Given the description of an element on the screen output the (x, y) to click on. 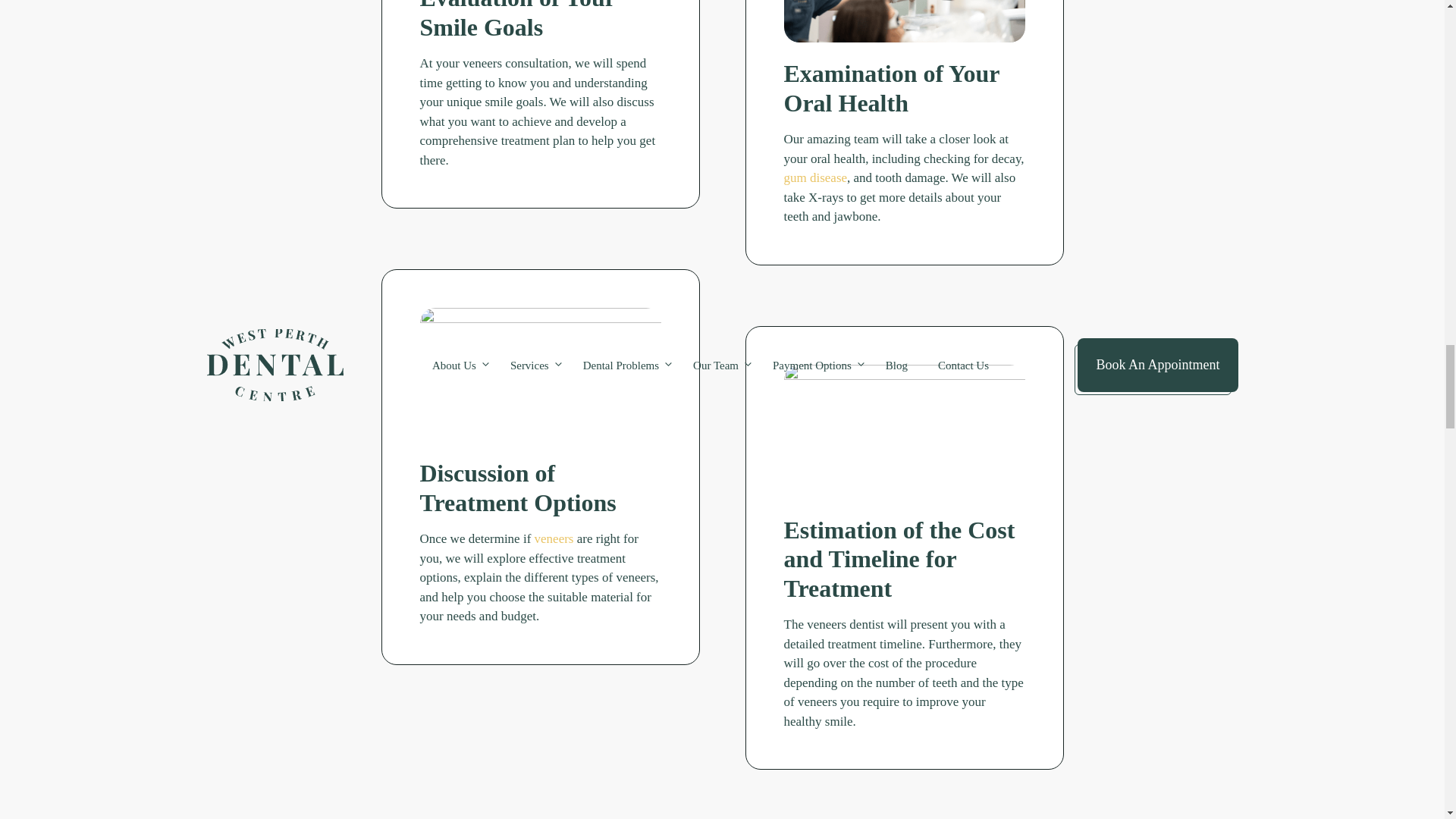
gum disease (815, 177)
